Given the description of an element on the screen output the (x, y) to click on. 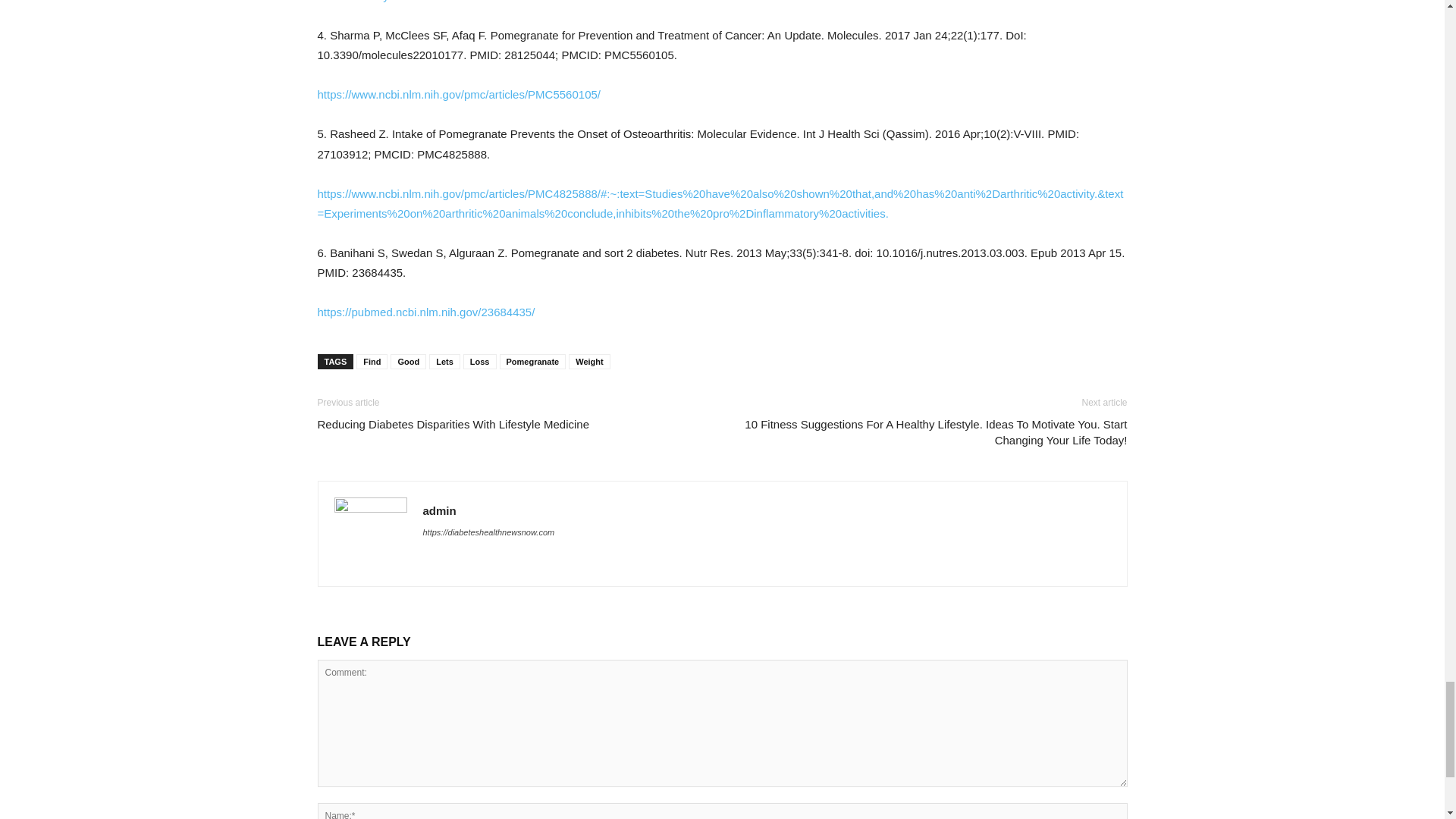
Reducing Diabetes Disparities With Lifestyle Medicine (453, 424)
Pomegranate (532, 361)
admin (440, 510)
Weight (589, 361)
Loss (479, 361)
Lets (444, 361)
Good (408, 361)
Find (371, 361)
